Given the description of an element on the screen output the (x, y) to click on. 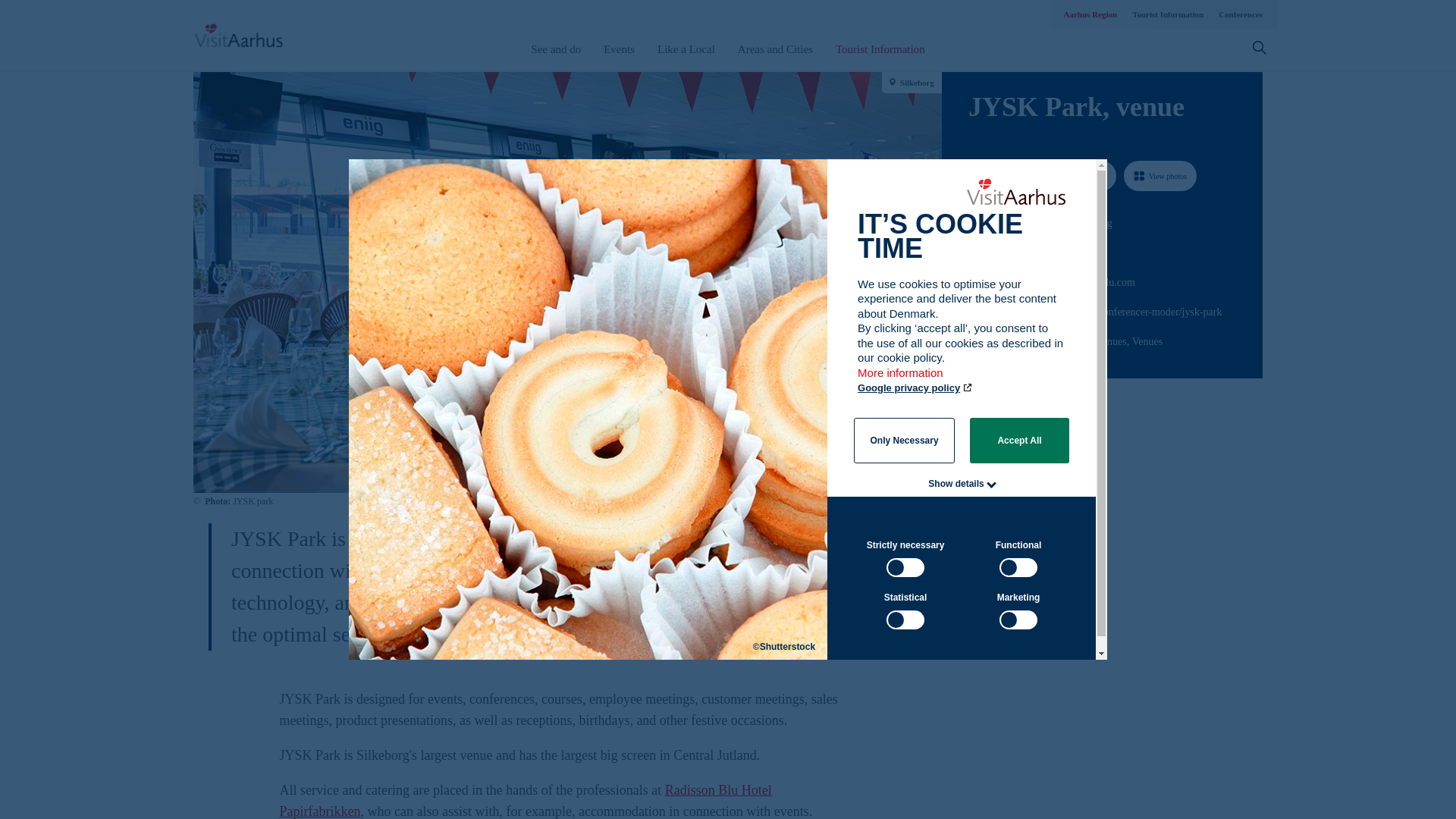
Accept All (1018, 440)
Path (973, 310)
Show details (956, 483)
More information (900, 379)
Google privacy policy (915, 387)
Path (973, 250)
Only Necessary (904, 440)
